Given the description of an element on the screen output the (x, y) to click on. 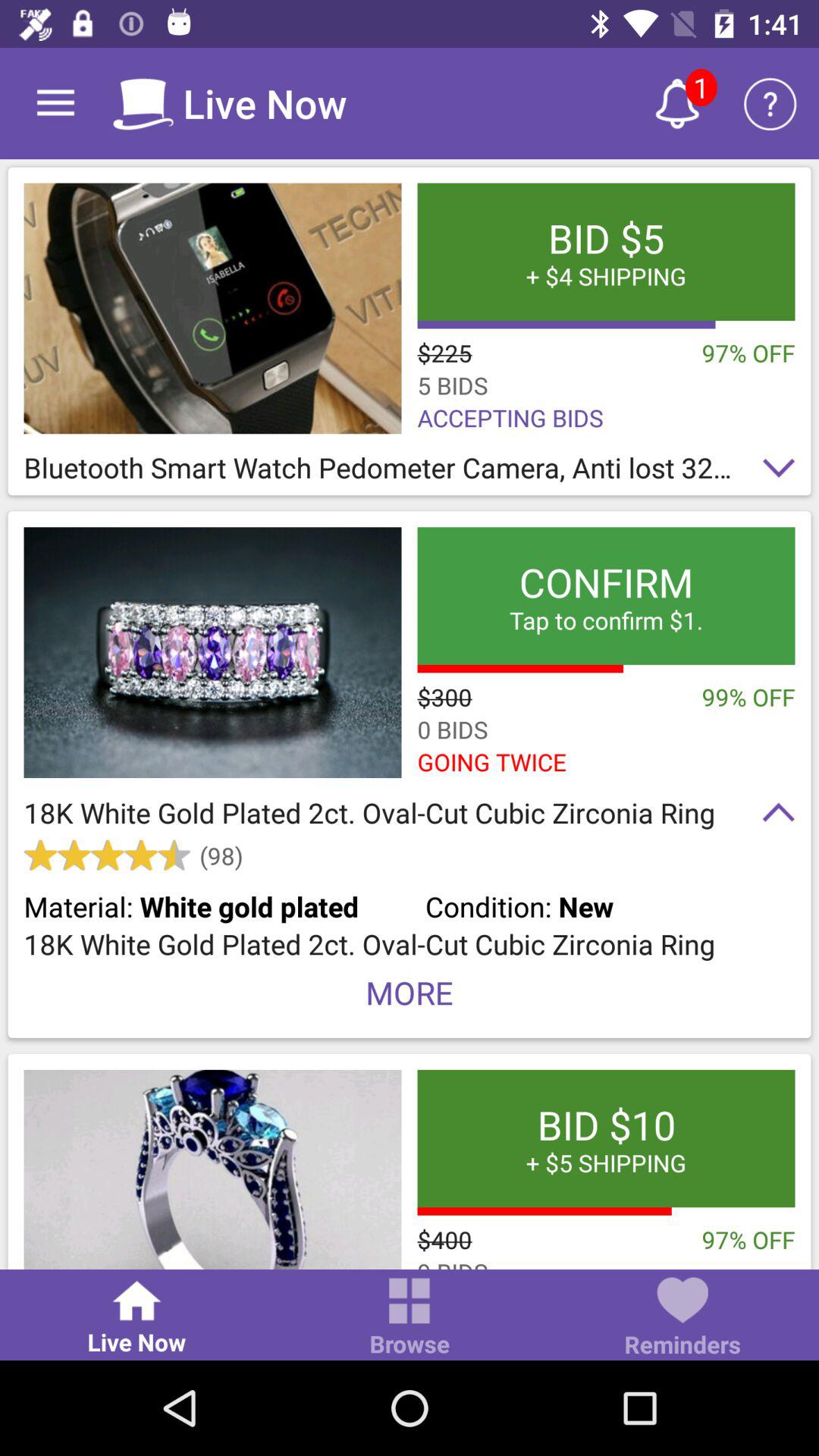
launch the item above bid 5 4 (771, 103)
